Given the description of an element on the screen output the (x, y) to click on. 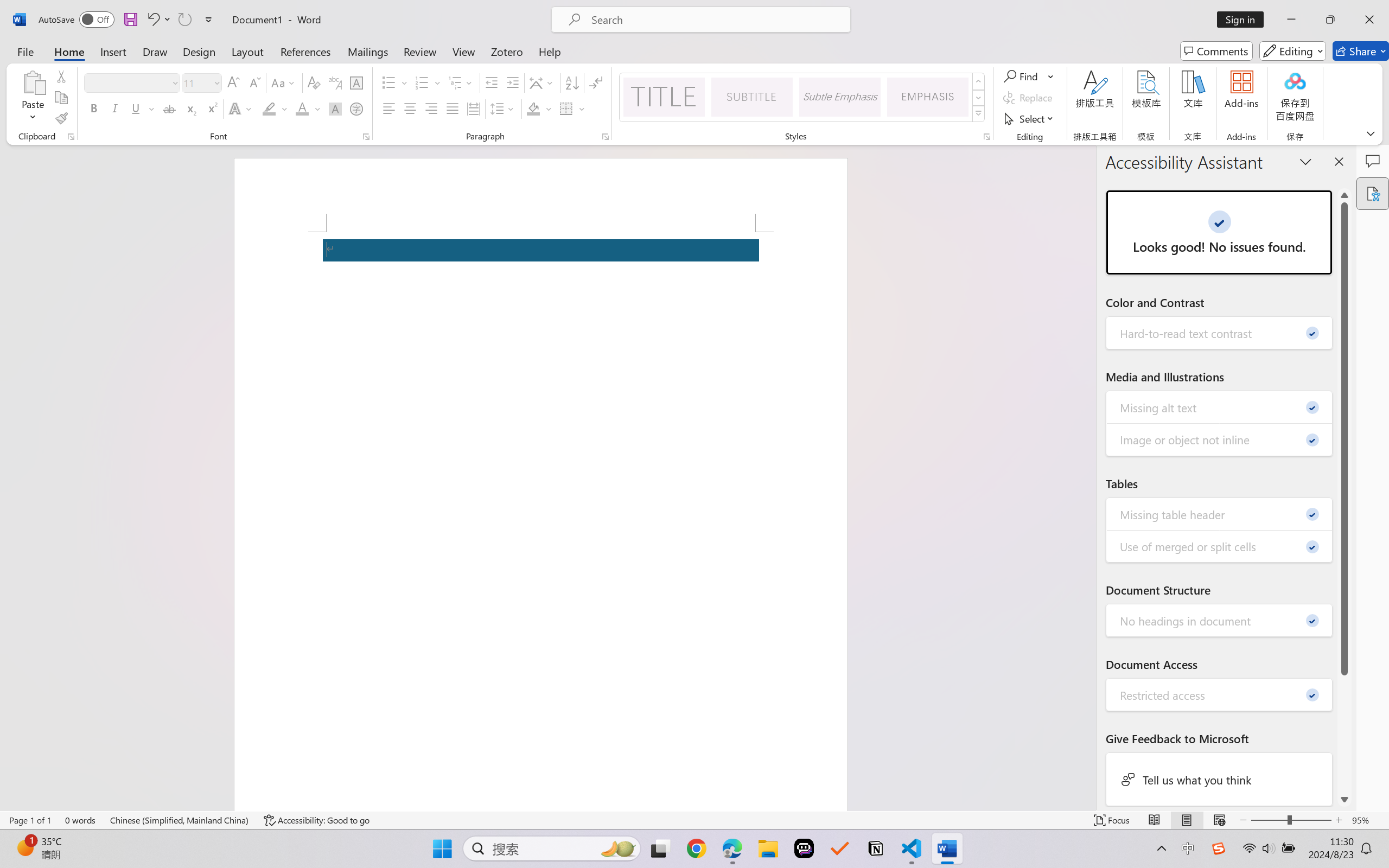
Emphasis (927, 96)
Sign in (1244, 19)
Subtle Emphasis (839, 96)
